Given the description of an element on the screen output the (x, y) to click on. 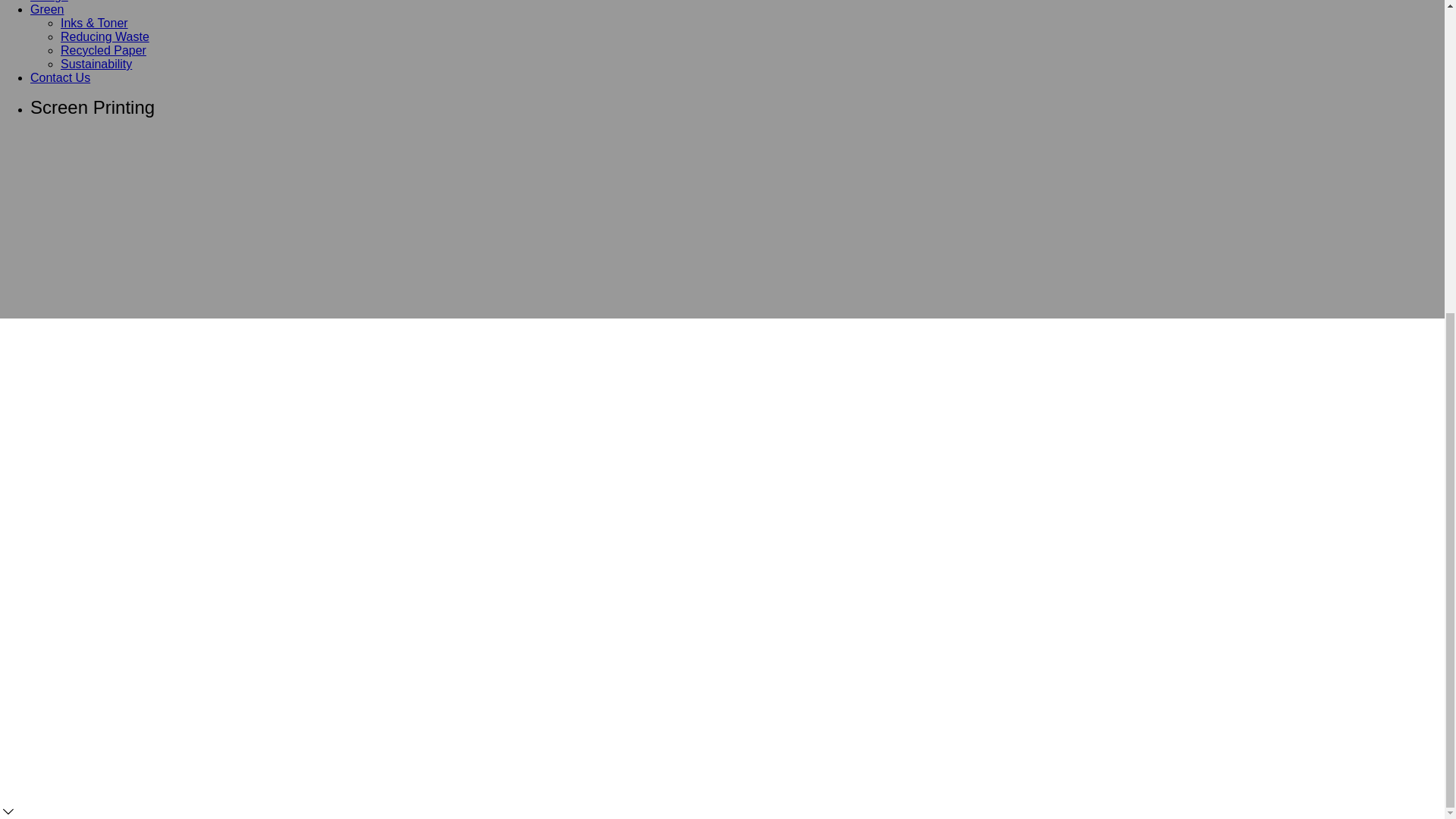
Green (47, 9)
Design (49, 1)
Reducing Waste (105, 36)
